Given the description of an element on the screen output the (x, y) to click on. 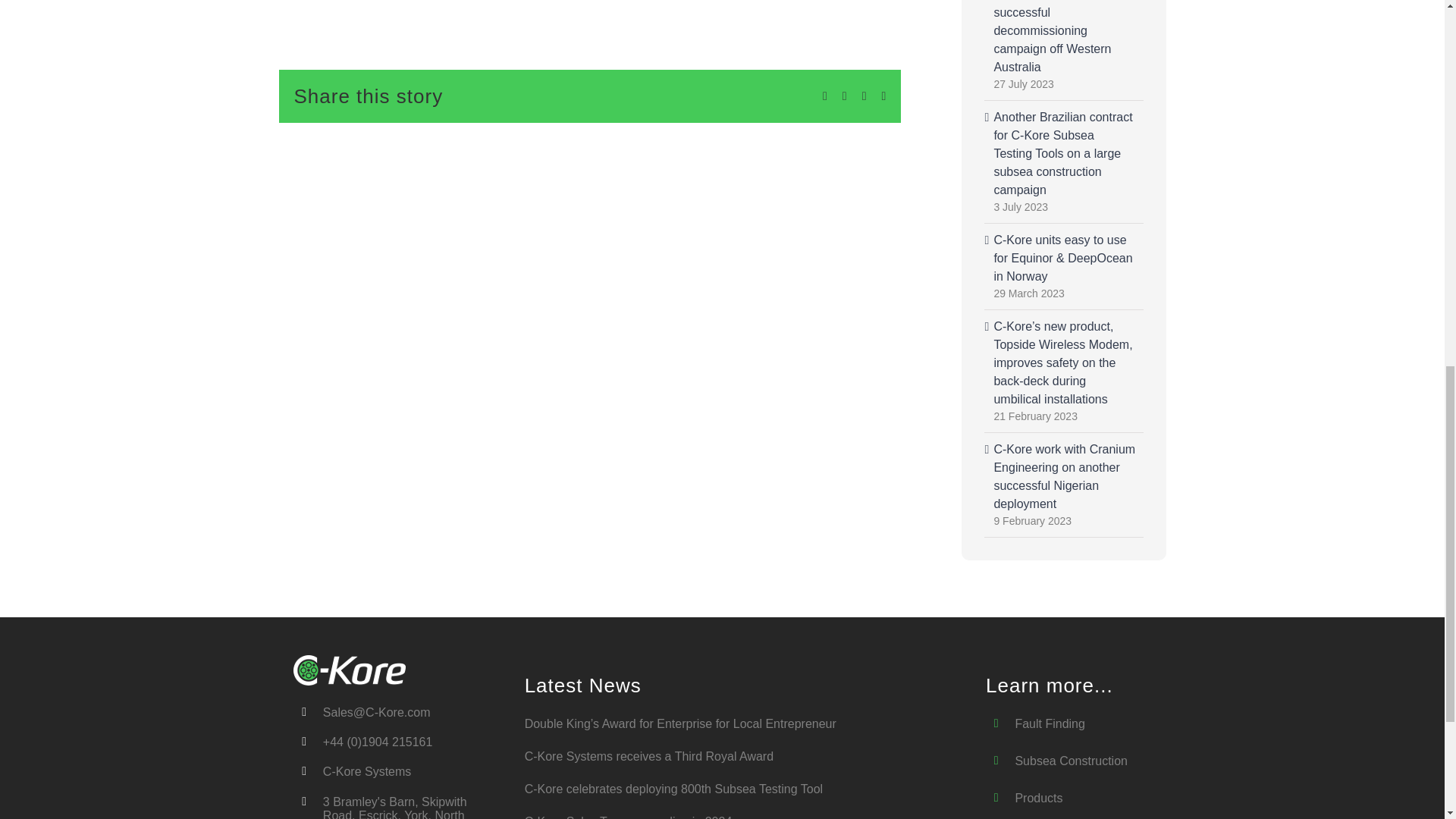
Facebook (824, 96)
X (845, 96)
C-Kore Logo Scaled (350, 670)
